Given the description of an element on the screen output the (x, y) to click on. 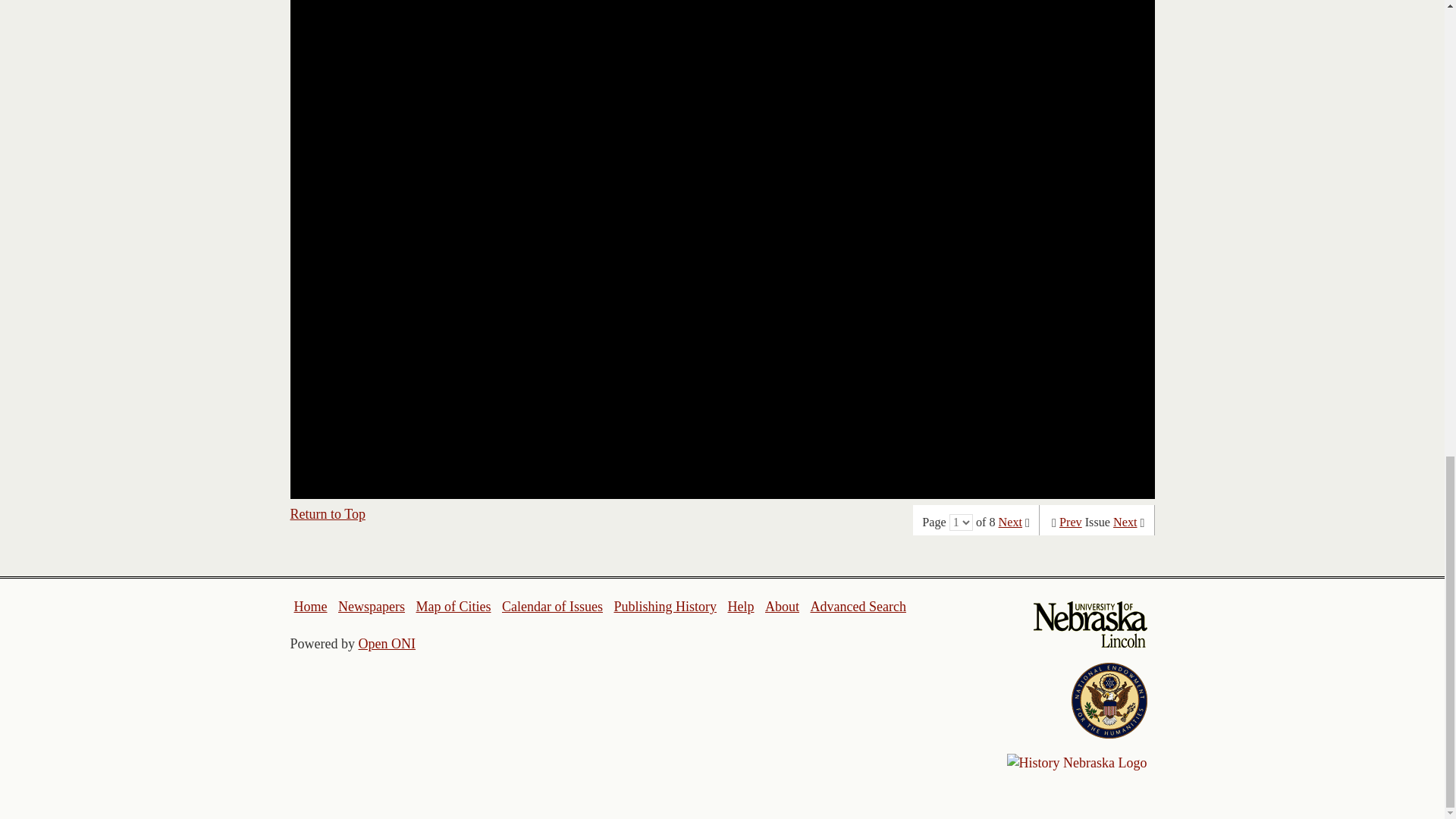
Prev (1070, 522)
Open ONI (386, 643)
Home (310, 606)
Map of Cities (452, 606)
About (782, 606)
Publishing History (664, 606)
Newspapers (370, 606)
Next (1010, 522)
Advanced Search (857, 606)
Help (740, 606)
Next (1125, 522)
Return to Top (327, 513)
Calendar of Issues (552, 606)
